Given the description of an element on the screen output the (x, y) to click on. 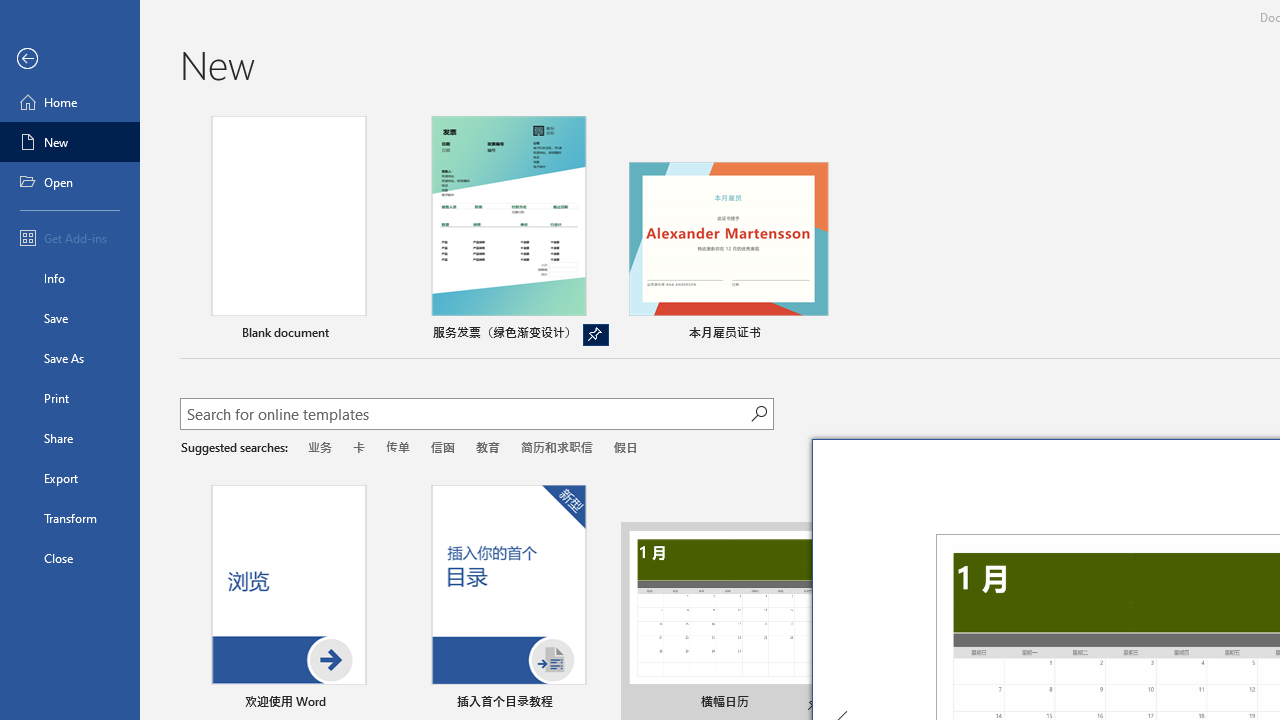
Pin to list (595, 703)
Transform (69, 517)
Print (69, 398)
Back (69, 59)
